Given the description of an element on the screen output the (x, y) to click on. 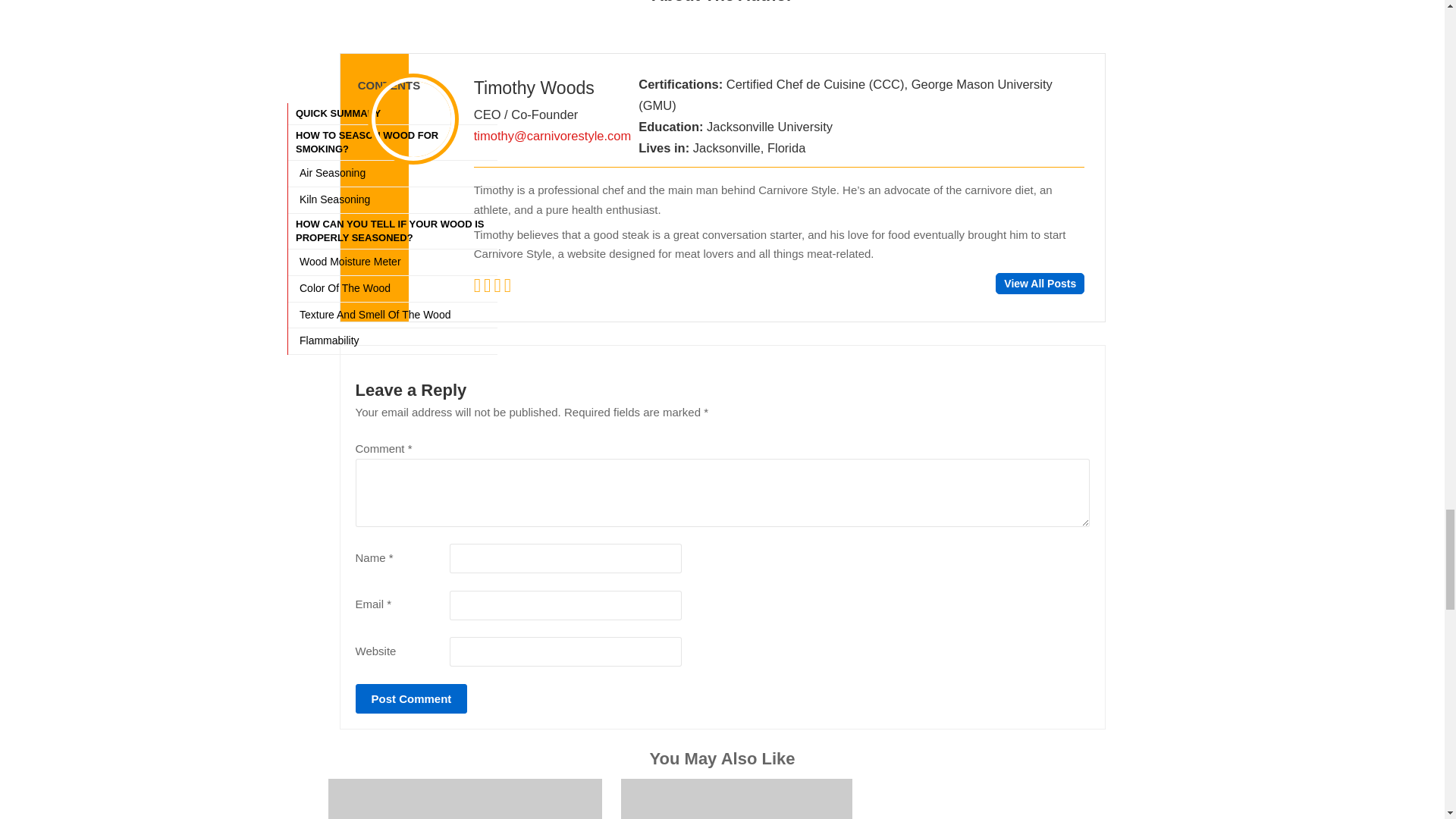
Post Comment (411, 698)
